Given the description of an element on the screen output the (x, y) to click on. 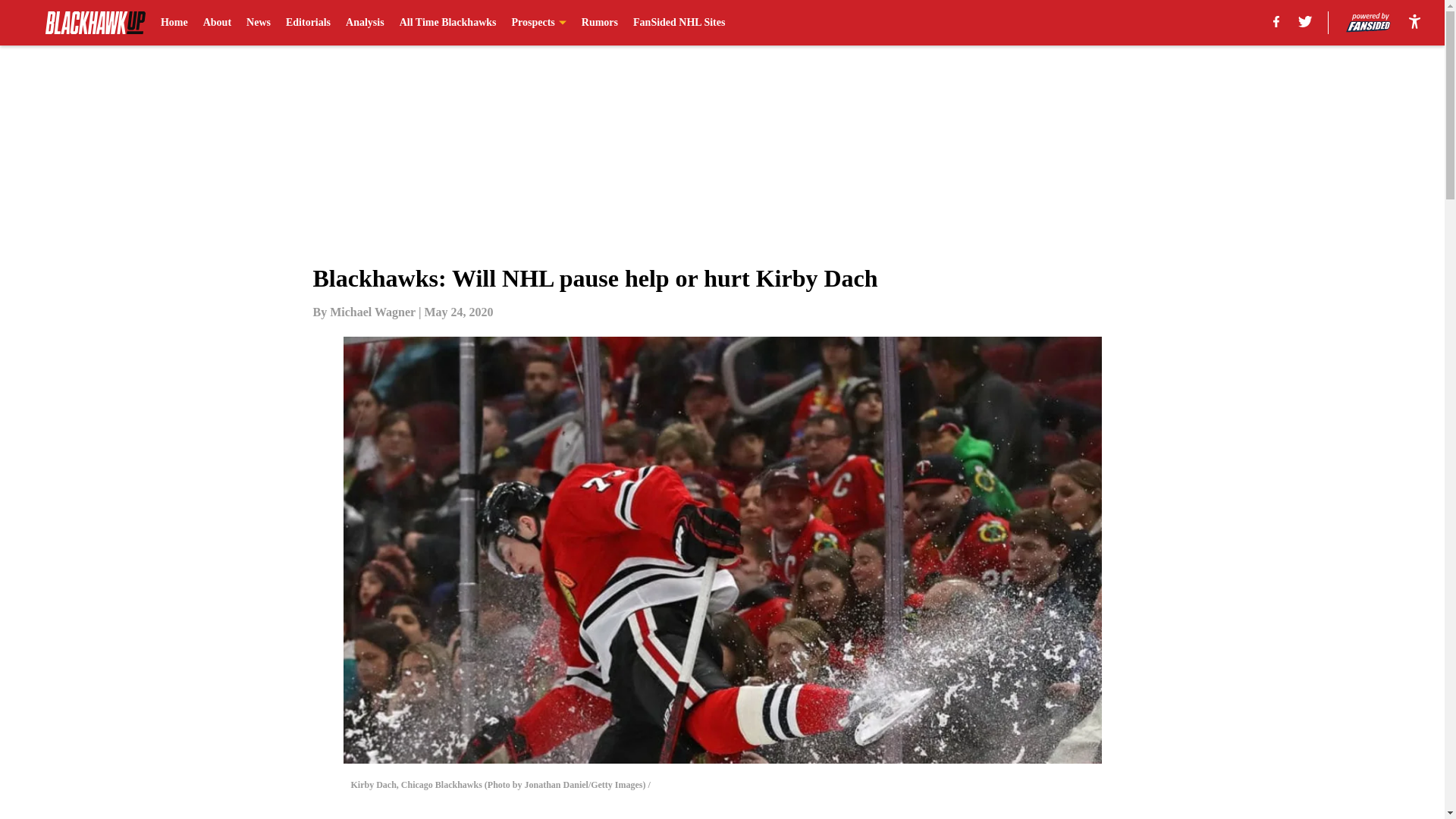
Analysis (365, 22)
Rumors (598, 22)
Home (173, 22)
All Time Blackhawks (447, 22)
News (258, 22)
About (217, 22)
Editorials (307, 22)
FanSided NHL Sites (679, 22)
